Given the description of an element on the screen output the (x, y) to click on. 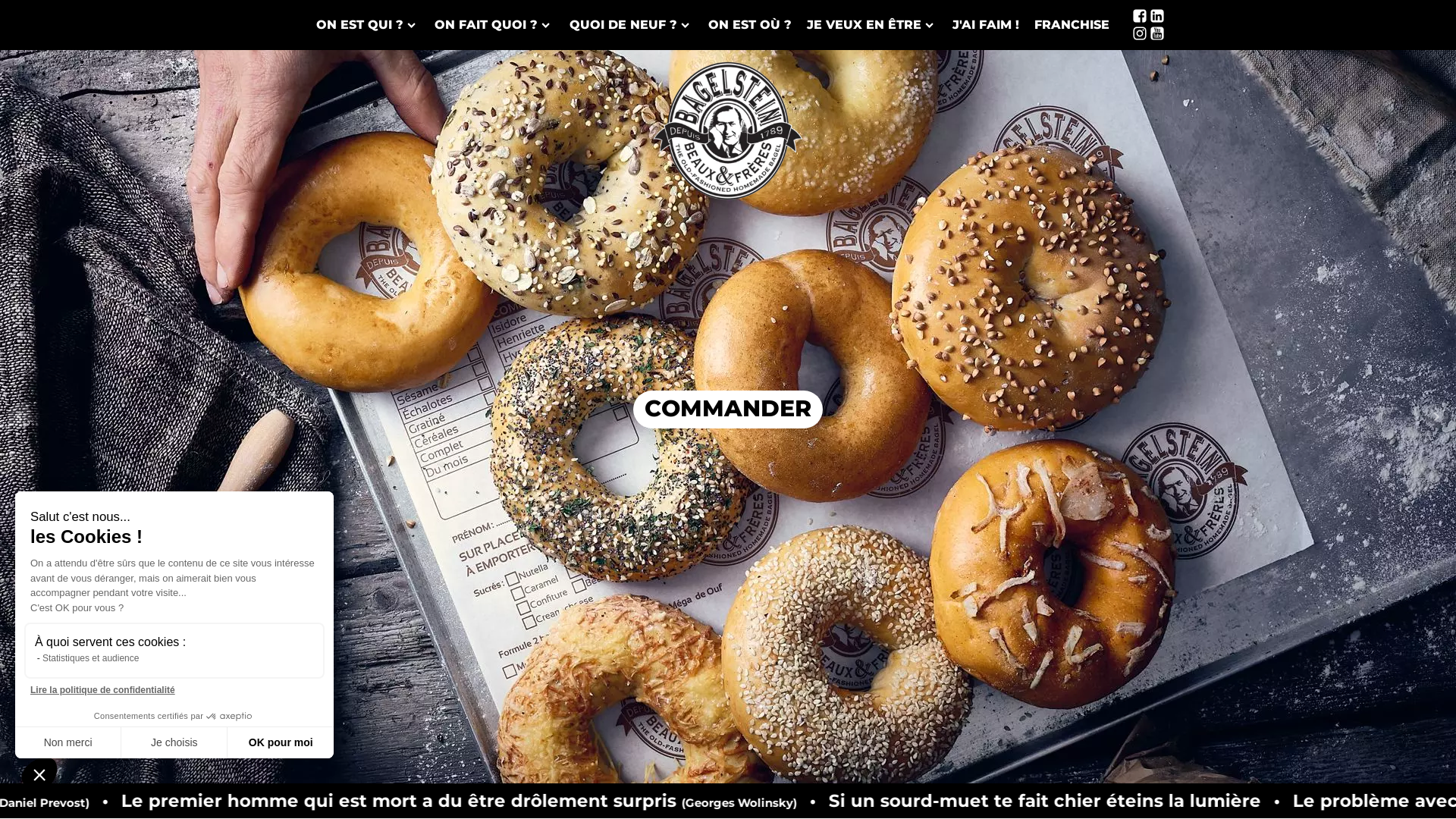
Prev Element type: text (19, 416)
Next Element type: text (1436, 416)
Statistiques et audience Element type: text (90, 657)
Fermer le widget sans consentement Element type: hover (39, 774)
ON FAIT QUOI ? Element type: text (493, 24)
J'AI FAIM ! Element type: text (985, 24)
Je choisis Element type: text (174, 742)
Non merci Element type: text (68, 742)
COMMANDER Element type: text (727, 409)
OK pour moi Element type: text (280, 742)
FRANCHISE Element type: text (1071, 24)
QUOI DE NEUF ? Element type: text (630, 24)
ON EST QUI ? Element type: text (367, 24)
